Given the description of an element on the screen output the (x, y) to click on. 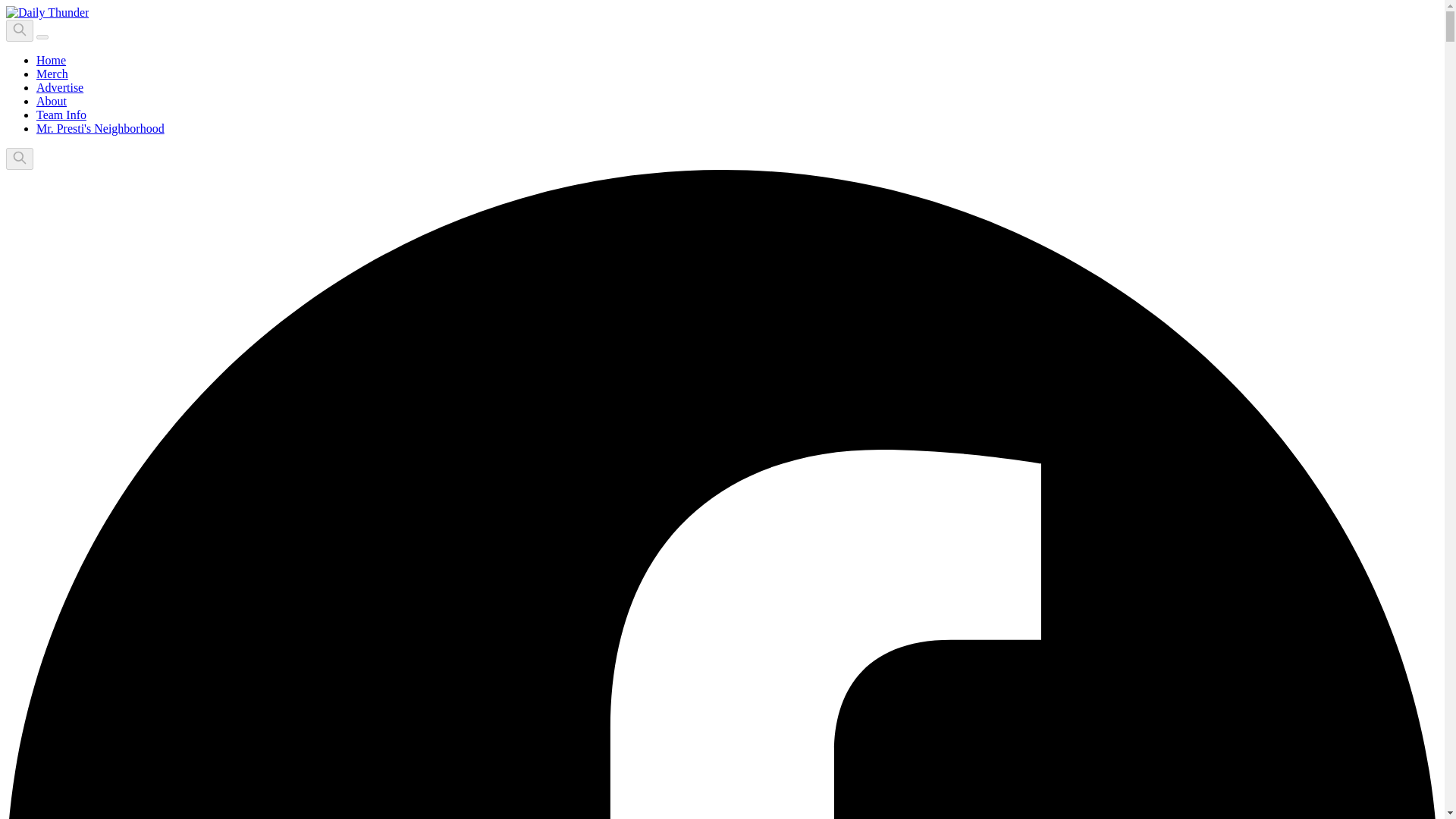
Advertise (59, 87)
Home (50, 60)
About (51, 101)
Mr. Presti's Neighborhood (100, 128)
Merch (52, 73)
Team Info (60, 114)
